Given the description of an element on the screen output the (x, y) to click on. 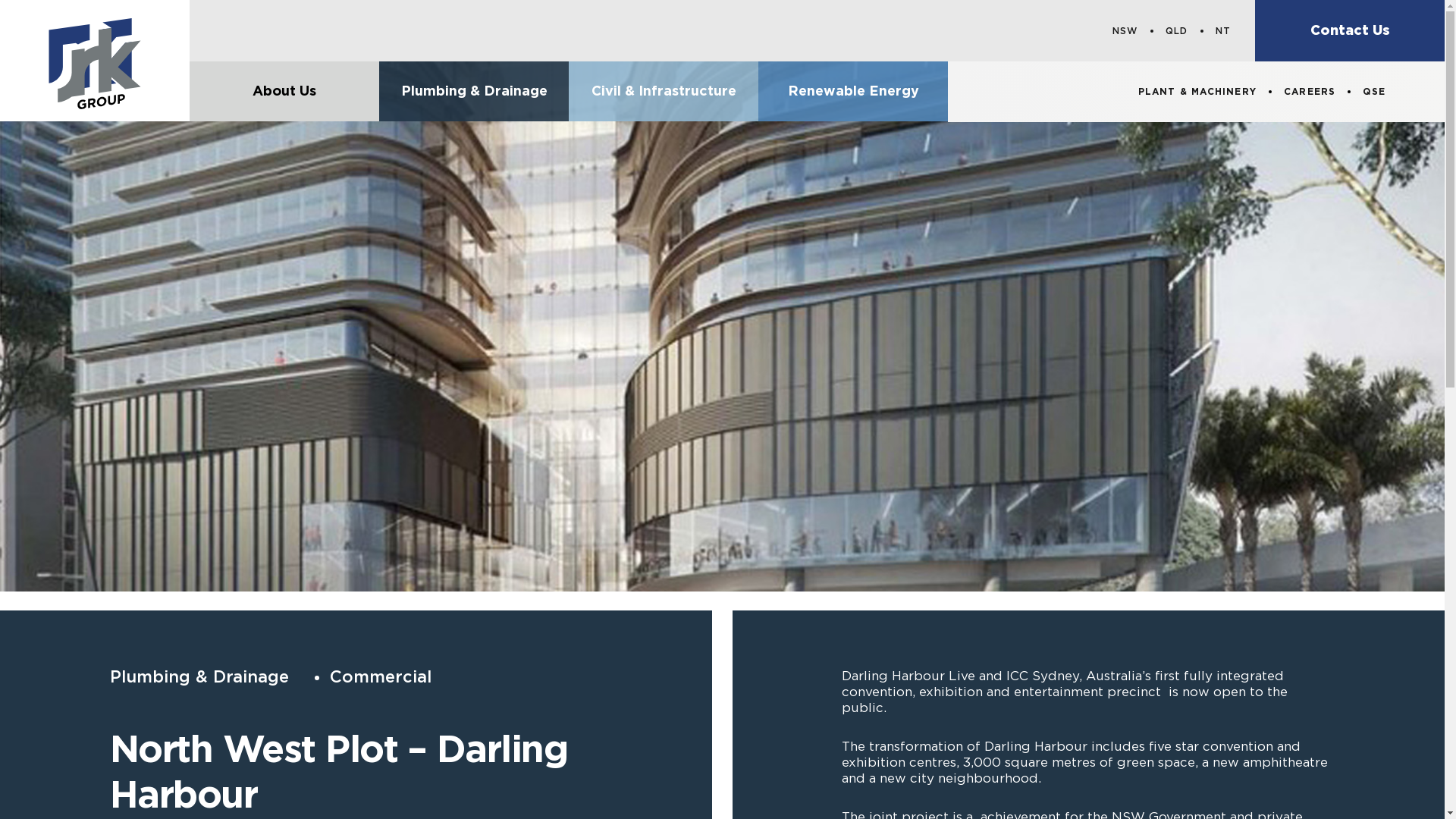
QLD Element type: text (1176, 30)
PLANT & MACHINERY Element type: text (1197, 91)
CAREERS Element type: text (1309, 91)
Contact Us Element type: text (1349, 30)
NSW Element type: text (1124, 30)
JRK Group Element type: hover (94, 60)
About Us Element type: text (284, 91)
Civil & Infrastructure Element type: text (663, 91)
QSE Element type: text (1373, 91)
Renewable Energy Element type: text (852, 91)
Plumbing & Drainage Element type: text (473, 91)
NT Element type: text (1222, 30)
